Given the description of an element on the screen output the (x, y) to click on. 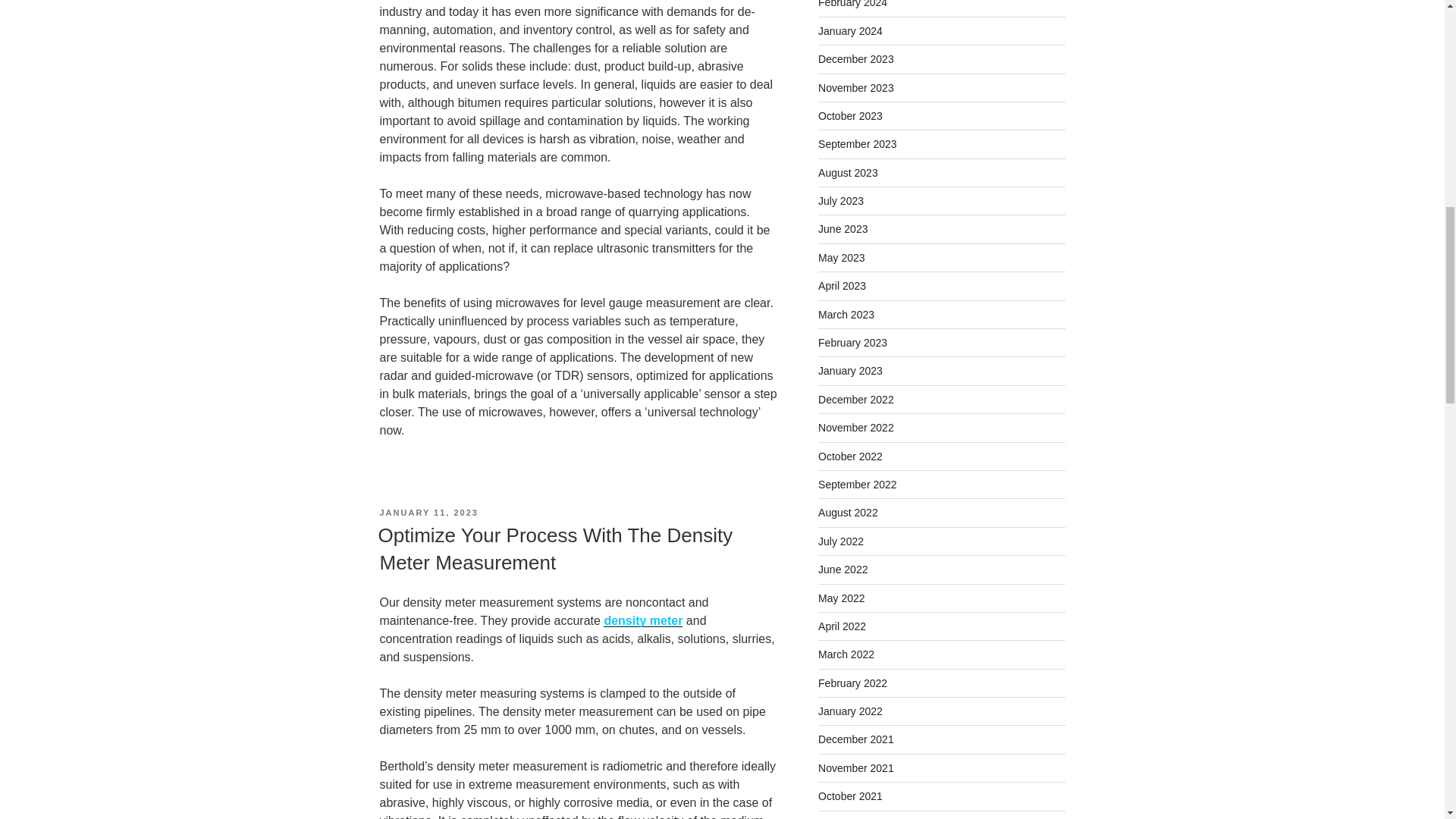
JANUARY 11, 2023 (427, 511)
September 2023 (857, 143)
November 2023 (855, 87)
density meter (643, 620)
July 2023 (840, 200)
August 2023 (847, 173)
January 2024 (850, 30)
October 2023 (850, 115)
Optimize Your Process With The Density Meter Measurement (554, 549)
December 2023 (855, 59)
